Given the description of an element on the screen output the (x, y) to click on. 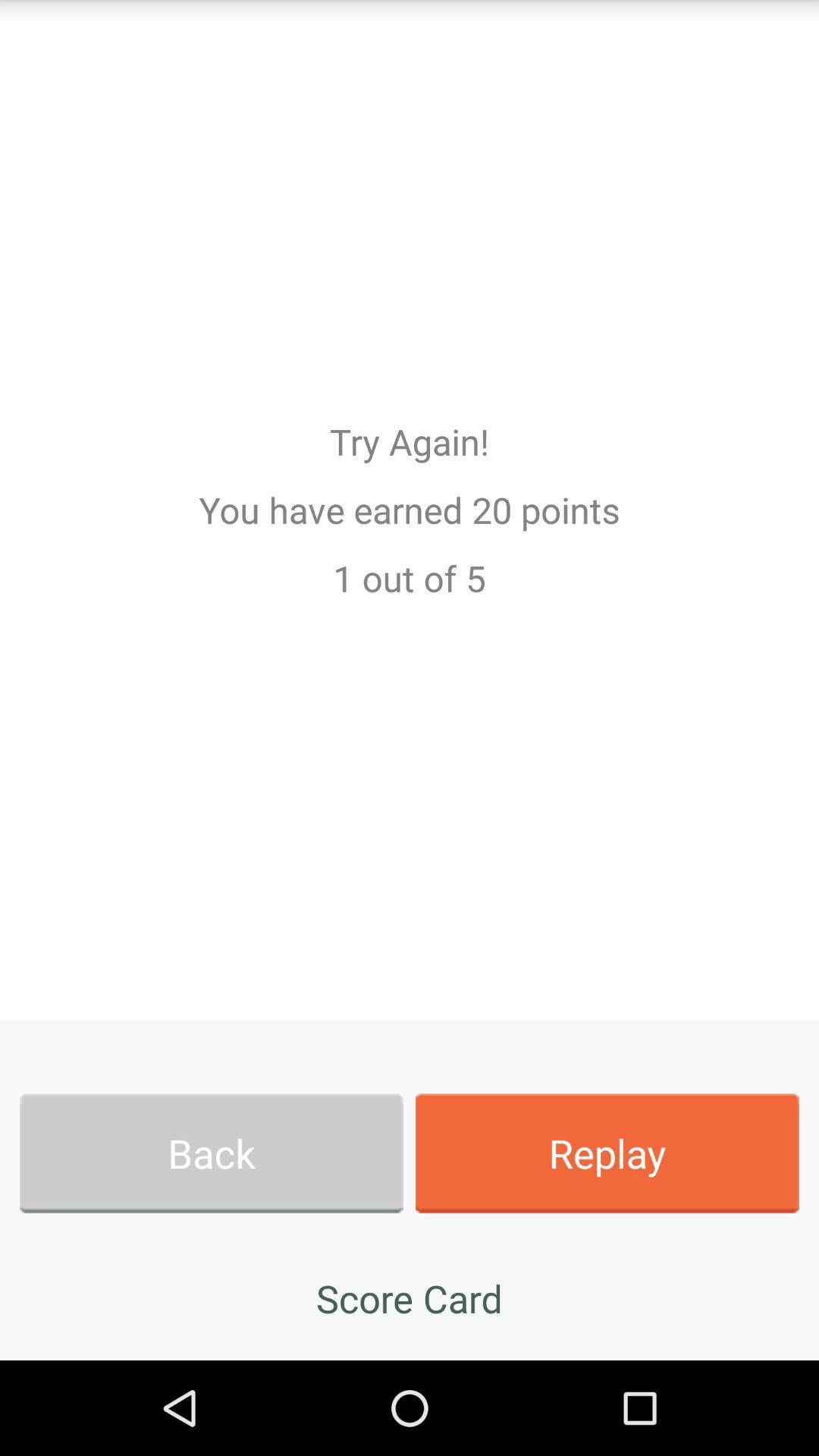
turn on the app below the back item (409, 1298)
